Given the description of an element on the screen output the (x, y) to click on. 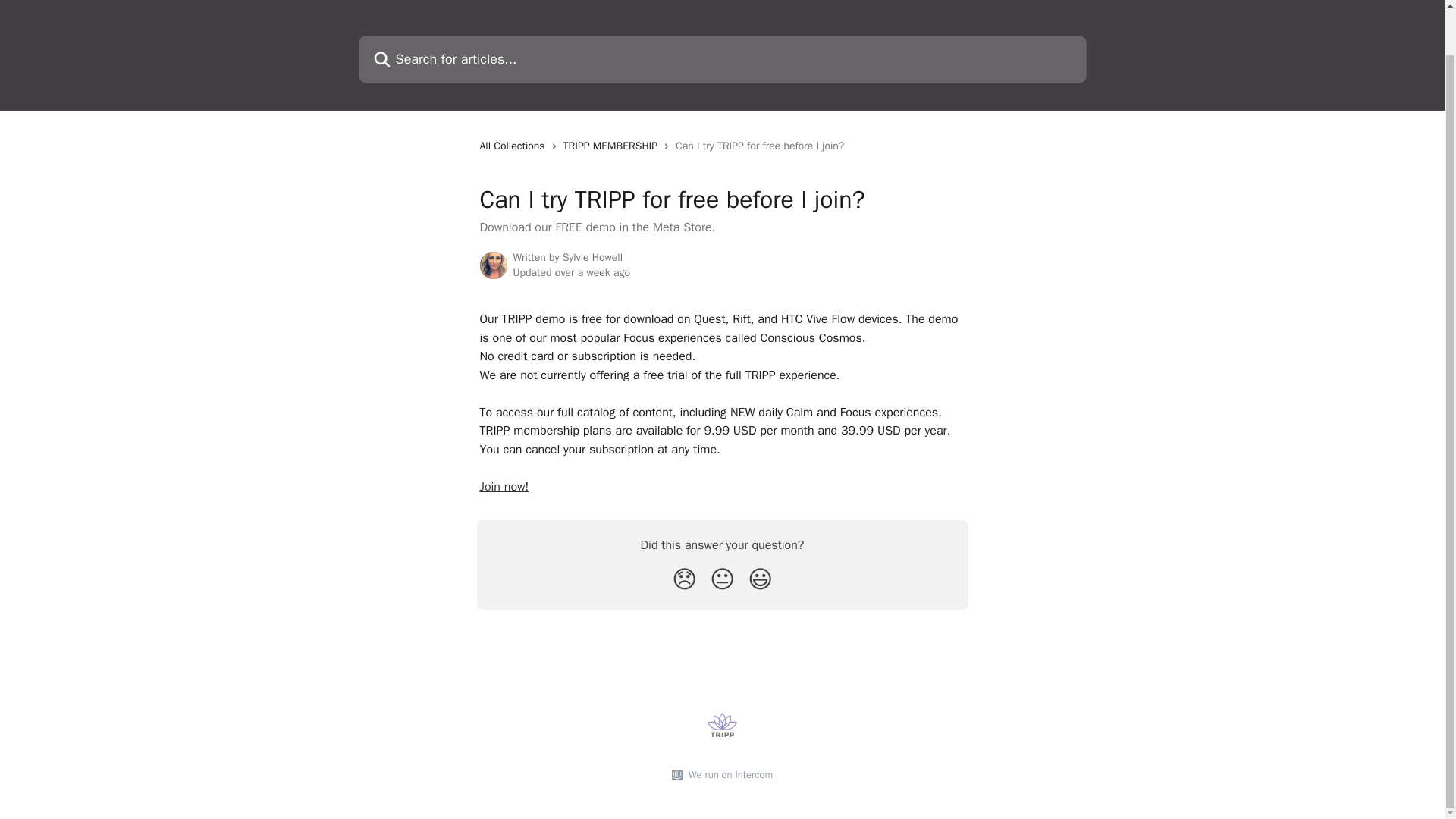
TRIPP MEMBERSHIP (613, 146)
We run on Intercom (727, 774)
Join now! (503, 486)
All Collections (514, 146)
